Given the description of an element on the screen output the (x, y) to click on. 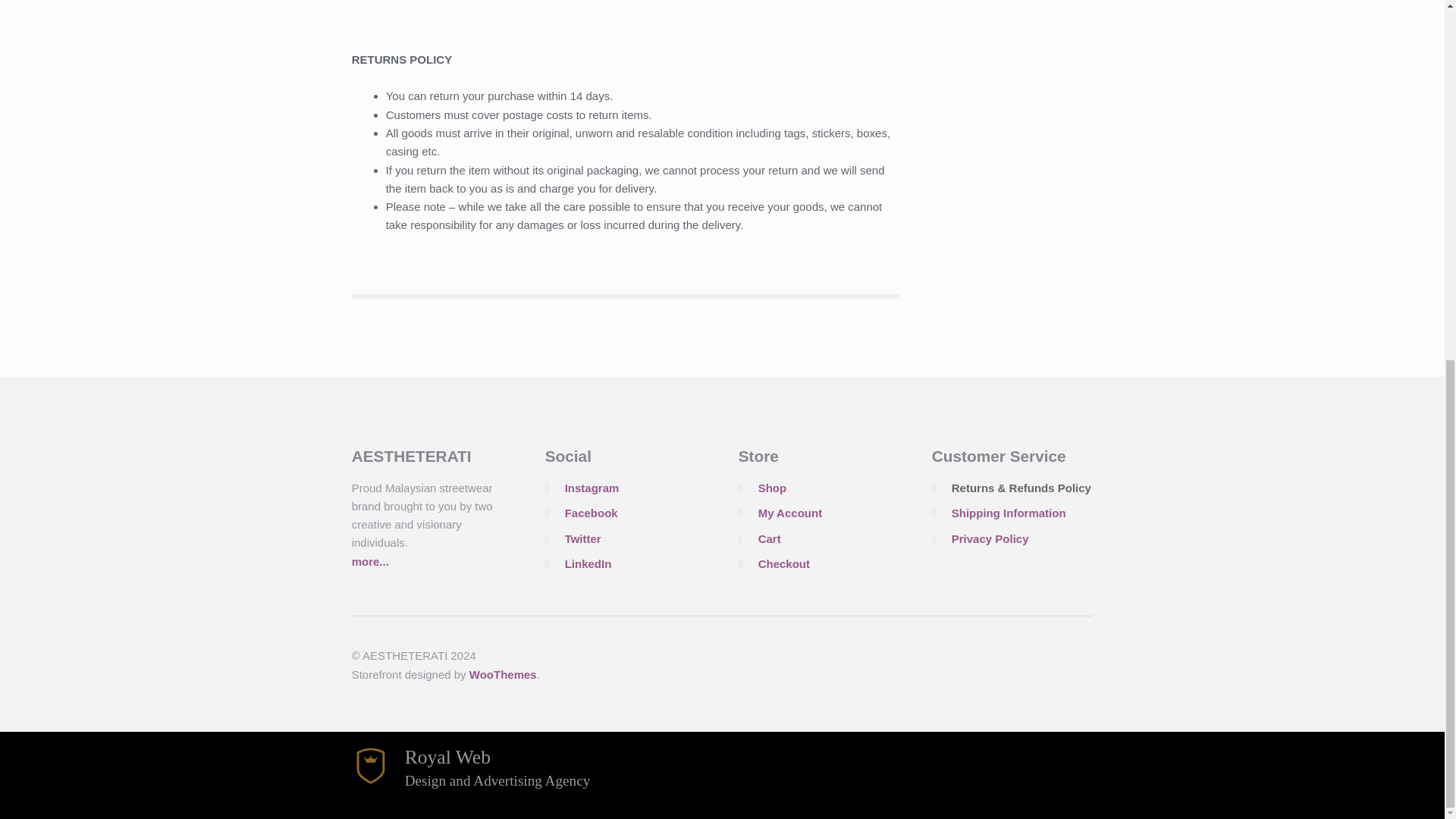
About AESTHETERATI (370, 561)
WooThemes (502, 674)
Facebook (590, 512)
Instagram (592, 487)
Cart (769, 538)
Royal Web - Design and Advertising Agency (471, 780)
more... (370, 561)
My Account (790, 512)
Twitter (582, 538)
Shop (772, 487)
